Given the description of an element on the screen output the (x, y) to click on. 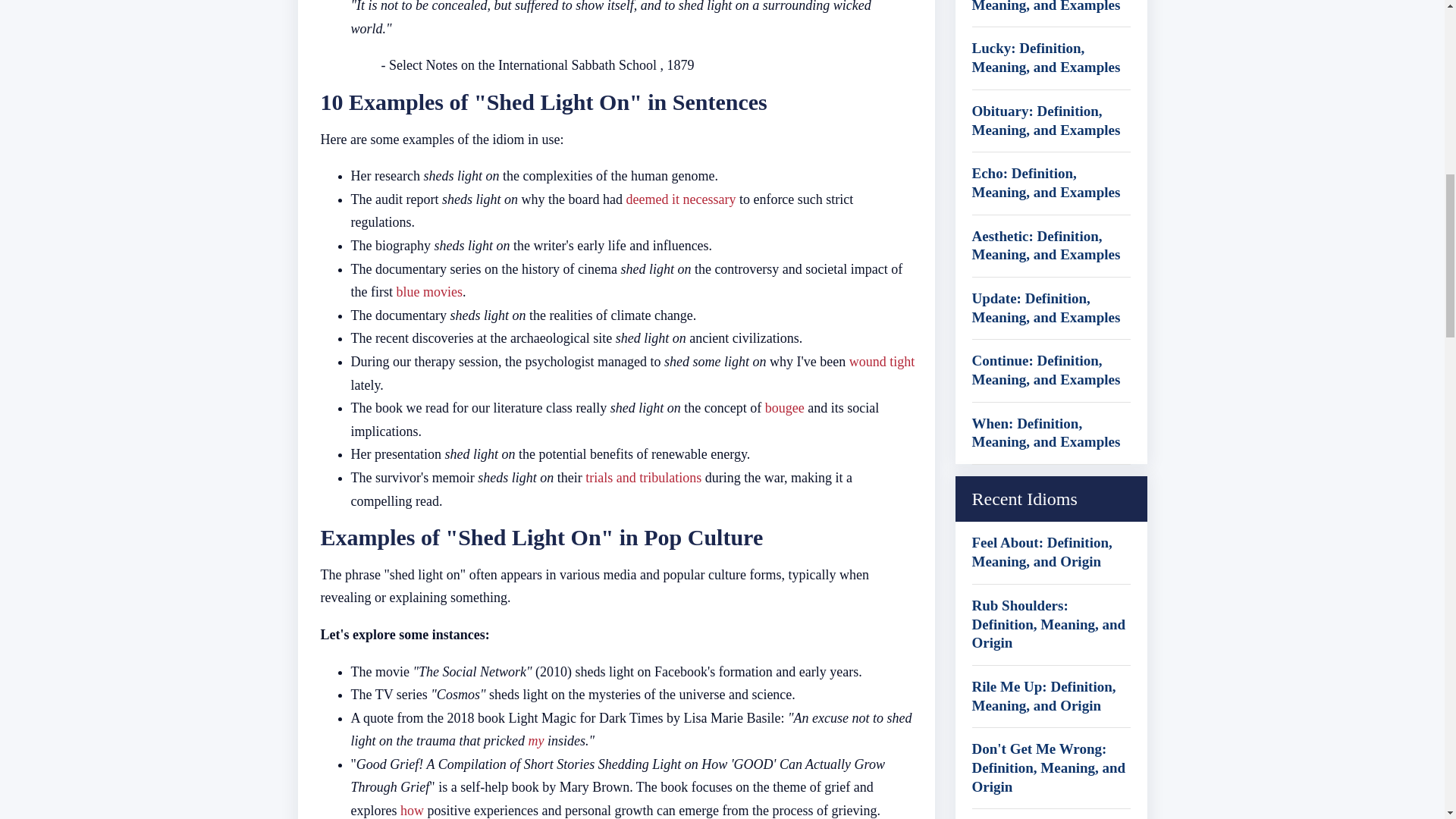
deemed it necessary (680, 199)
my (535, 740)
trials and tribulations (643, 477)
blue movies (429, 291)
wound tight (881, 361)
bougee (785, 407)
how (411, 810)
